Given the description of an element on the screen output the (x, y) to click on. 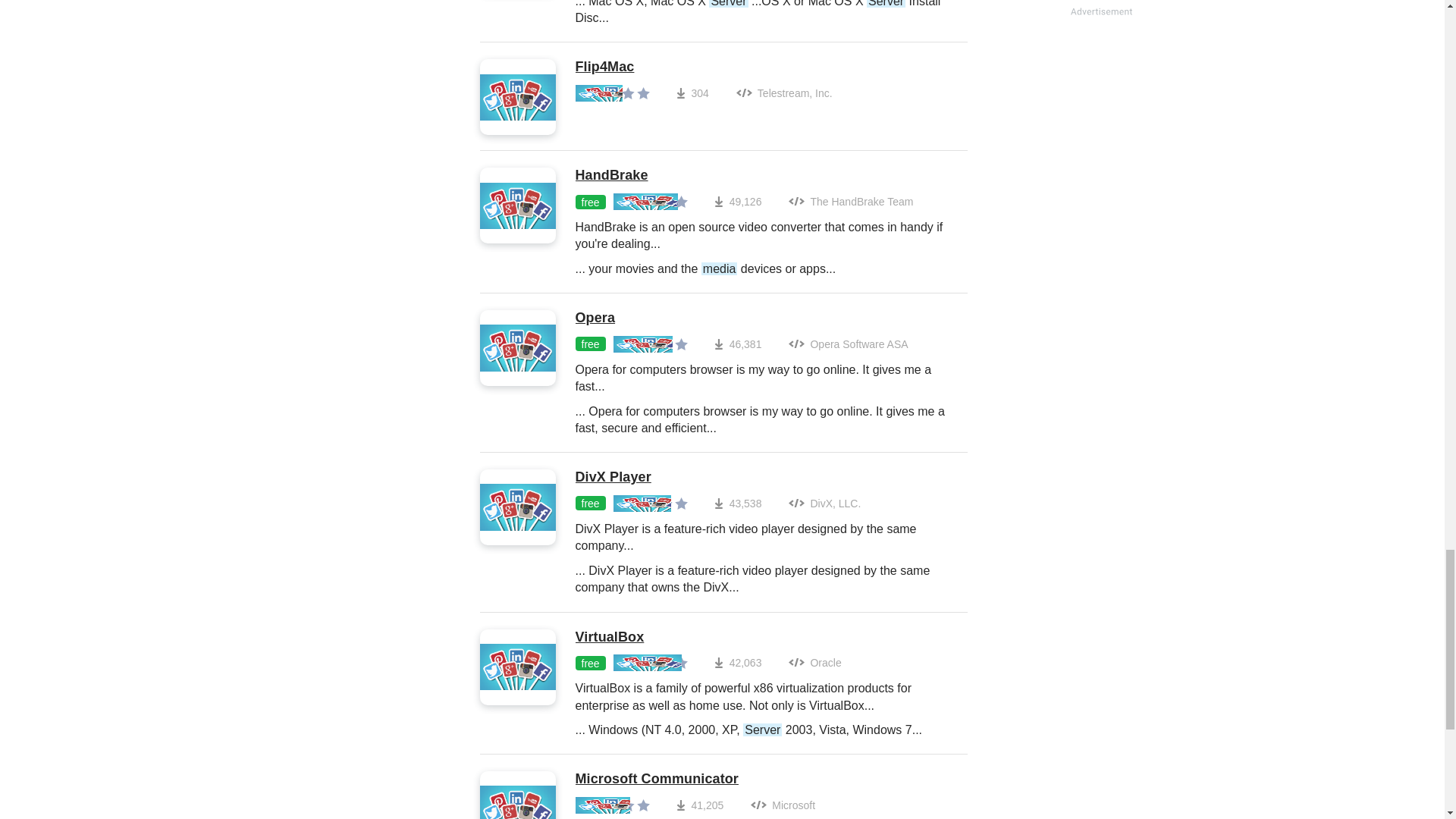
HandBrake (763, 175)
Flip4Mac (703, 67)
Opera (763, 318)
